Given the description of an element on the screen output the (x, y) to click on. 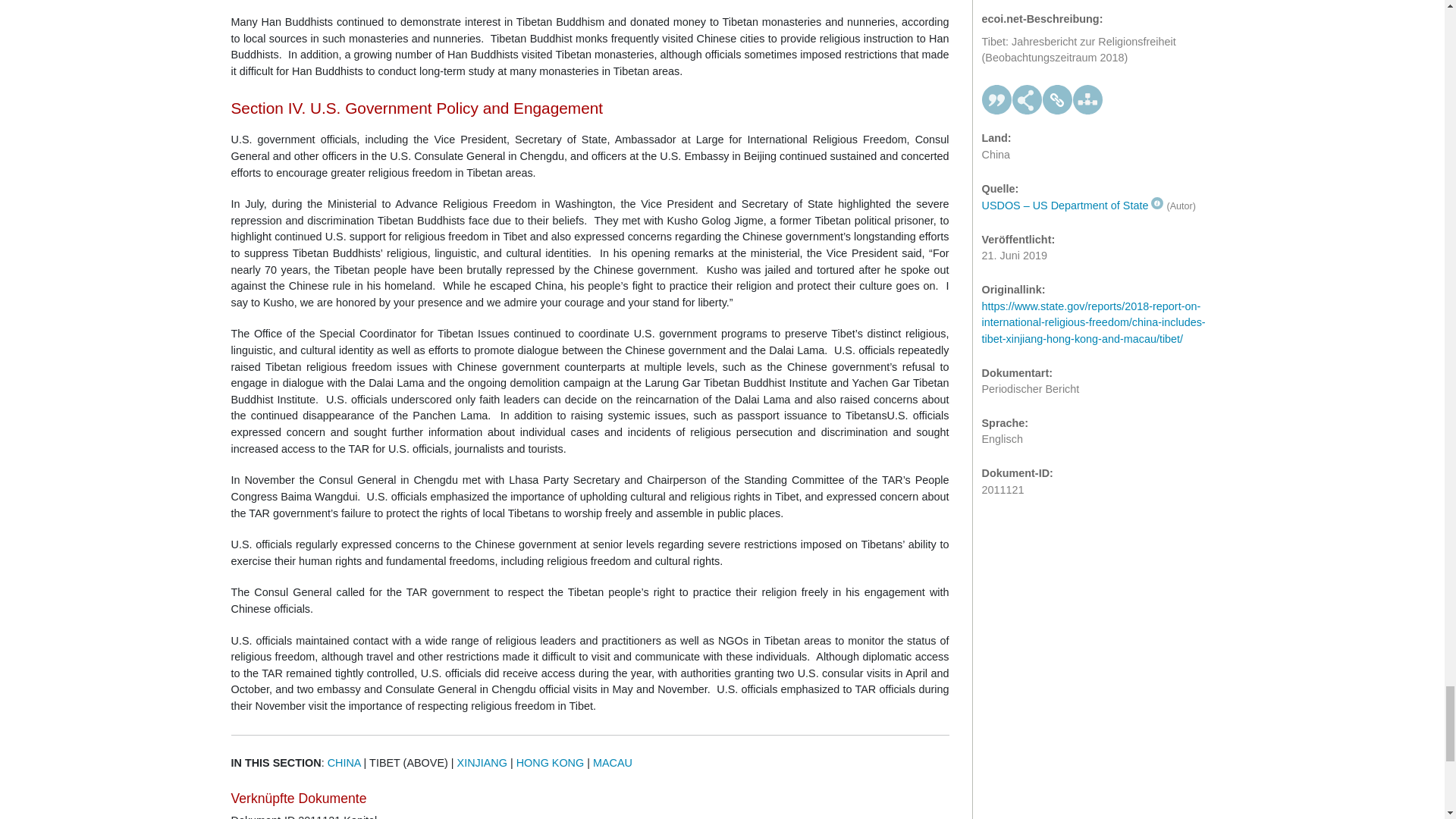
HONG KONG (550, 762)
XINJIANG (481, 762)
MACAU (611, 762)
CHINA (344, 762)
